Given the description of an element on the screen output the (x, y) to click on. 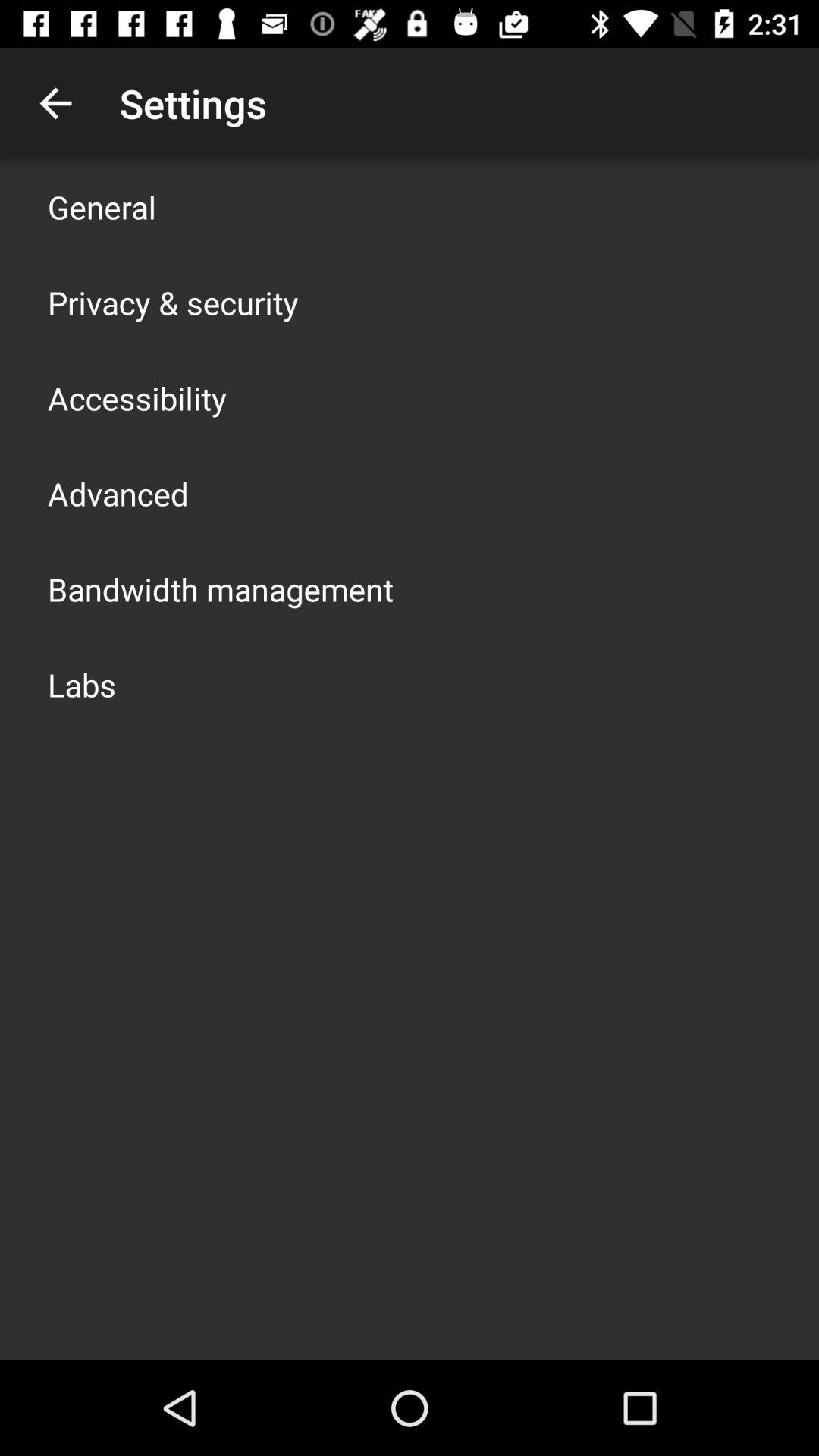
swipe to labs (81, 684)
